Given the description of an element on the screen output the (x, y) to click on. 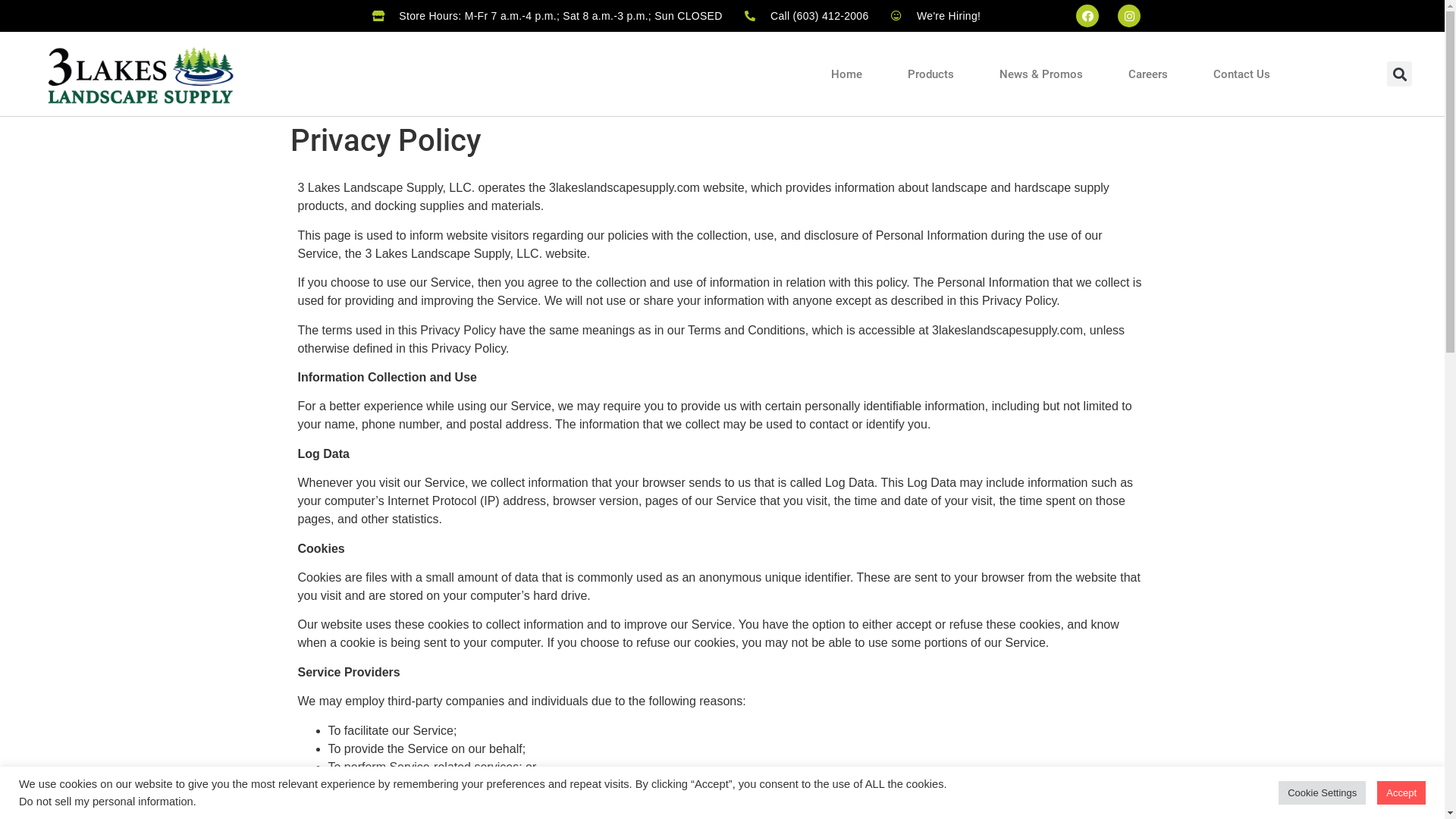
Contact Us Element type: text (1241, 73)
Call (603) 412-2006 Element type: text (806, 15)
Home Element type: text (846, 73)
Do not sell my personal information Element type: text (105, 801)
We're Hiring! Element type: text (935, 15)
Products Element type: text (930, 73)
Accept Element type: text (1401, 792)
News & Promos Element type: text (1041, 73)
Cookie Settings Element type: text (1321, 792)
Careers Element type: text (1148, 73)
